Given the description of an element on the screen output the (x, y) to click on. 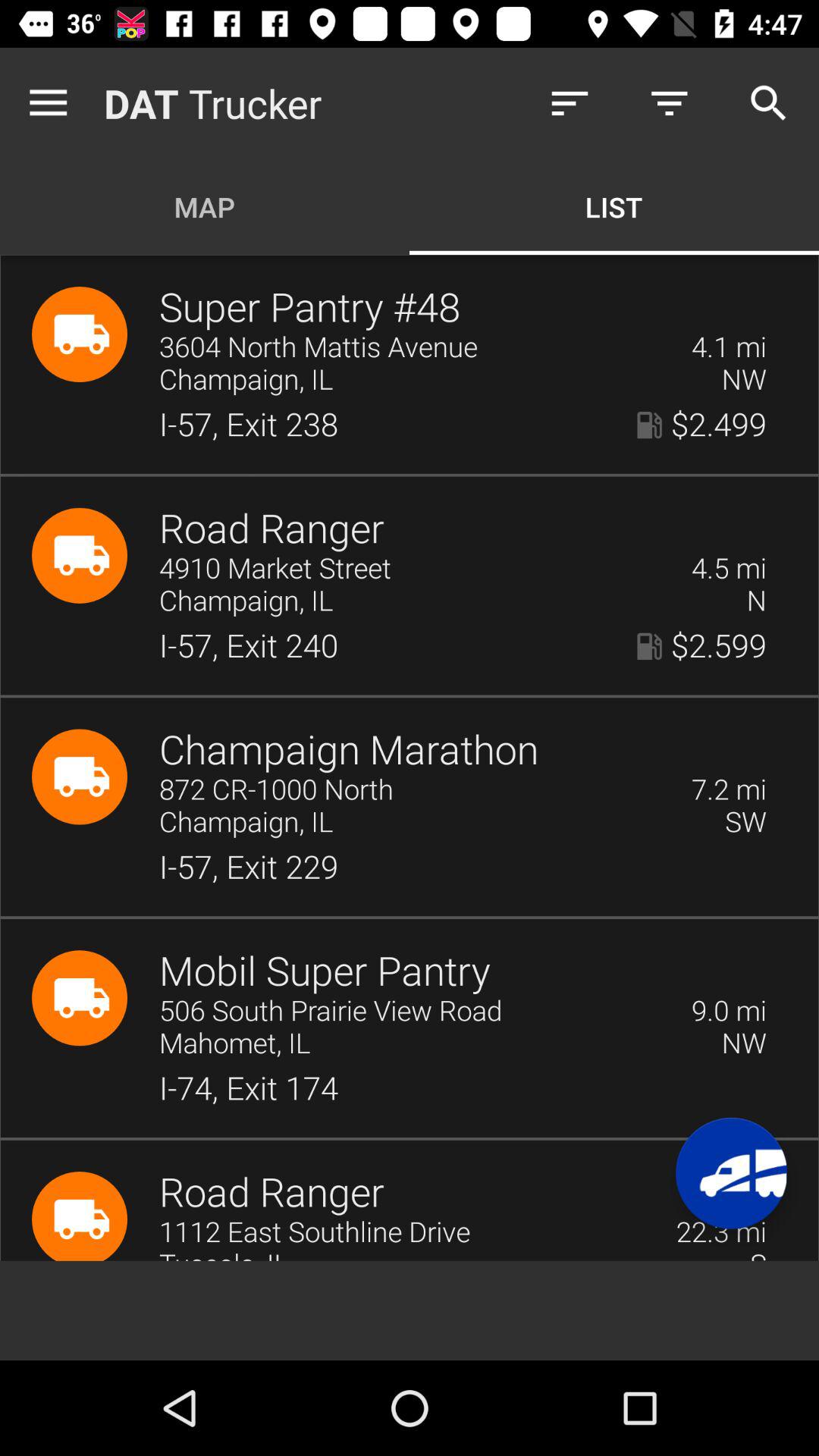
select the icon to the left of 7.2 mi icon (415, 790)
